Given the description of an element on the screen output the (x, y) to click on. 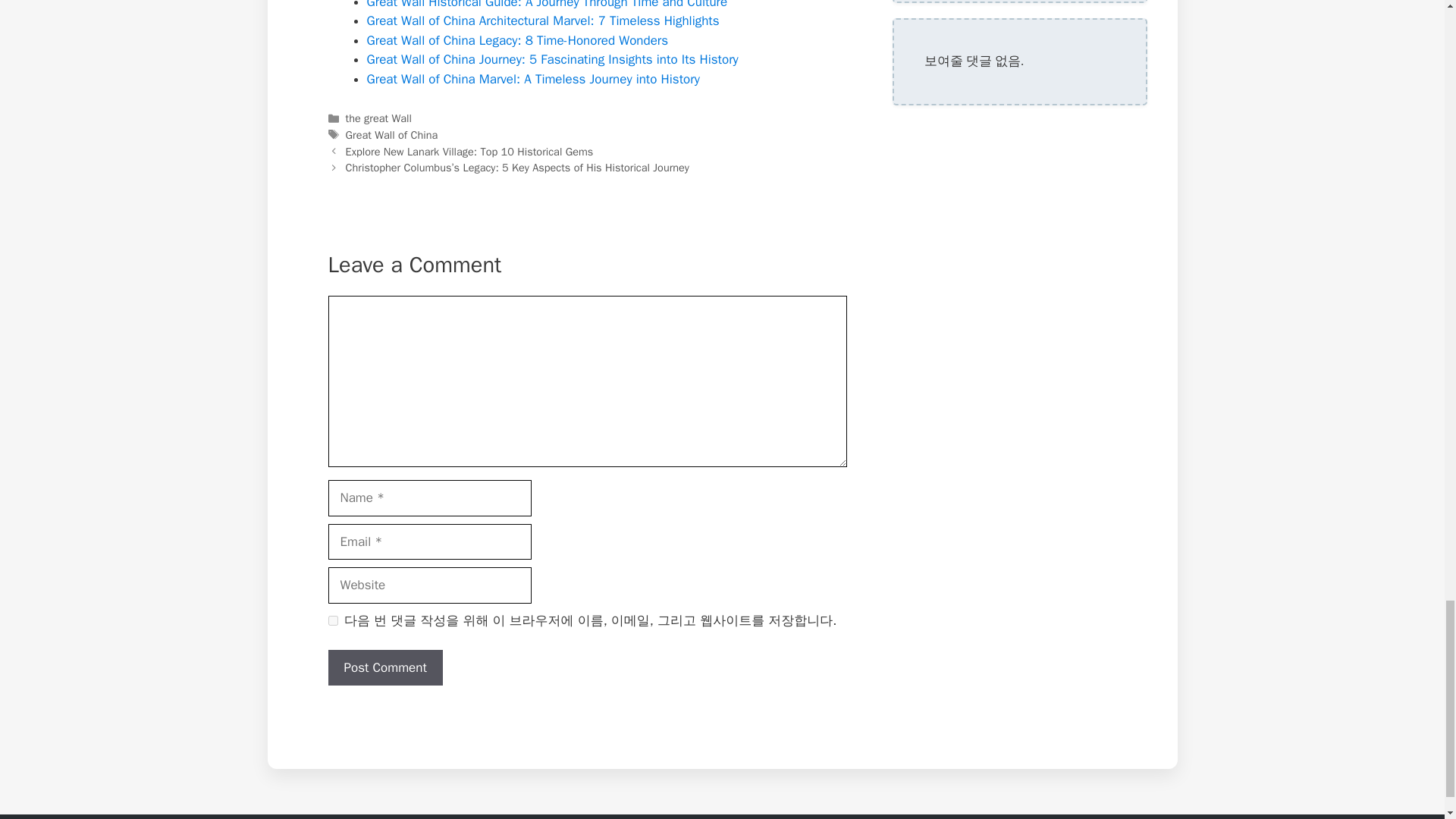
yes (332, 620)
Post Comment (384, 668)
Great Wall of China Legacy: 8 Time-Honored Wonders (517, 40)
the great Wall (379, 118)
Great Wall of China (392, 134)
Explore New Lanark Village: Top 10 Historical Gems (470, 151)
Great Wall of China Marvel: A Timeless Journey into History (533, 78)
Post Comment (384, 668)
